Given the description of an element on the screen output the (x, y) to click on. 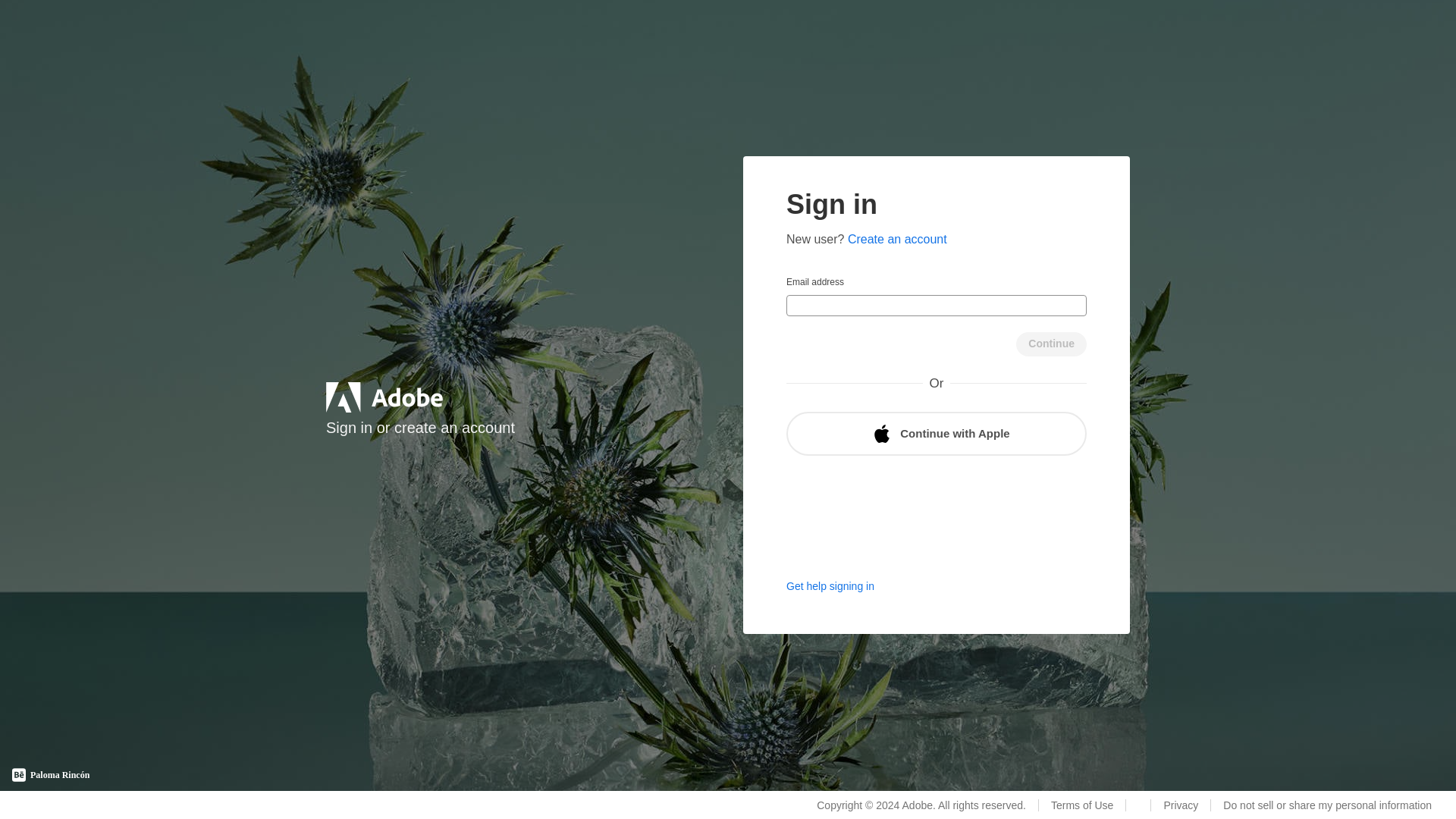
Get help signing in (830, 585)
Terms of Use (1081, 805)
Create an account (897, 238)
Privacy (1179, 805)
Continue with Apple (936, 433)
Continue (1051, 344)
Do not sell or share my personal information (1326, 805)
